Given the description of an element on the screen output the (x, y) to click on. 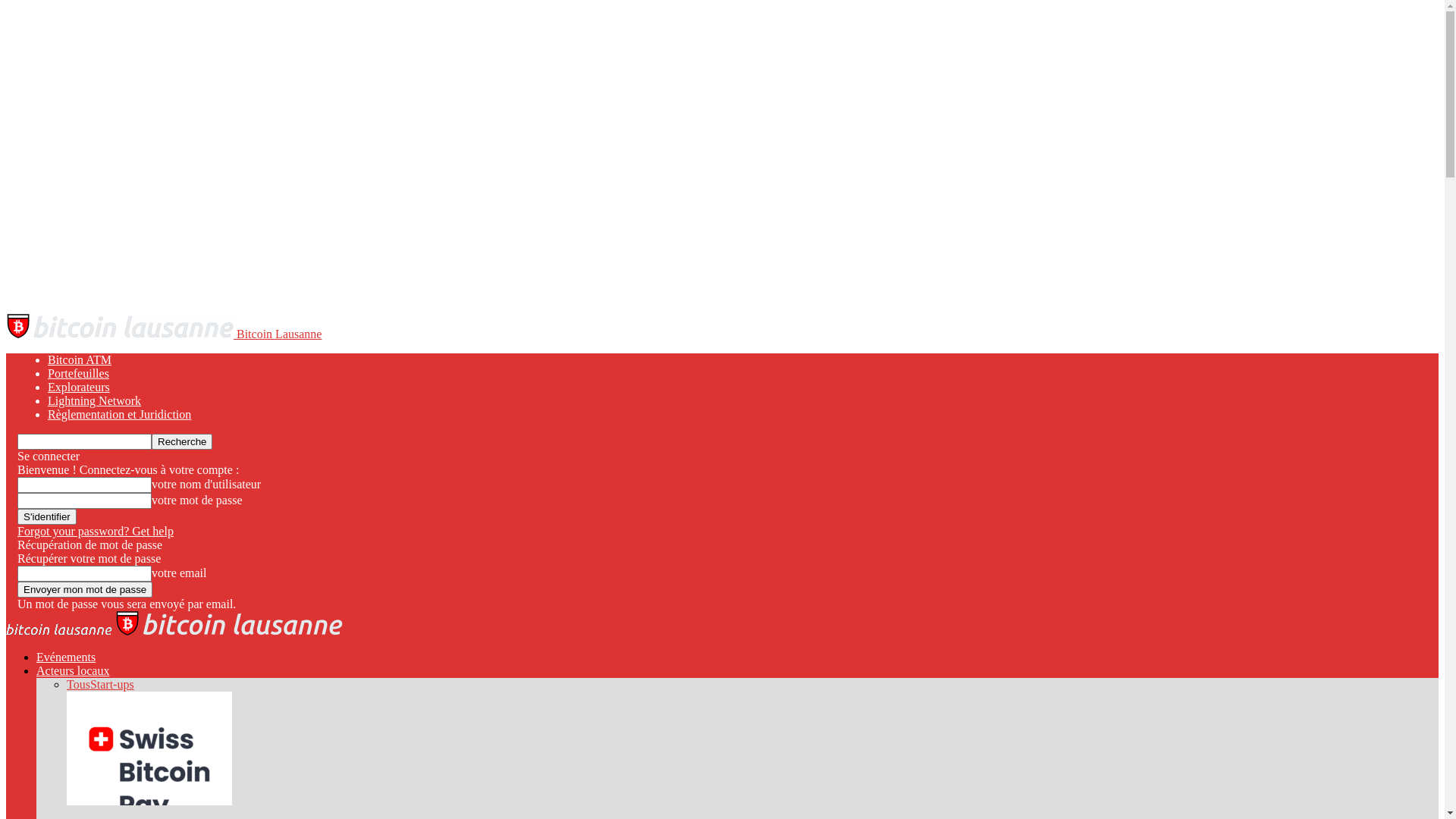
Portefeuilles Element type: text (78, 373)
Swiss Bitcoin Pay Element type: hover (149, 800)
Forgot your password? Get help Element type: text (95, 530)
Bitcoin Lausanne Element type: text (163, 333)
Acteurs locaux Element type: text (72, 670)
Swiss Bitcoin Pay Element type: hover (149, 748)
Bitcoin ATM Element type: text (79, 359)
Recherche Element type: text (181, 441)
Tous Element type: text (78, 683)
Explorateurs Element type: text (78, 386)
Start-ups Element type: text (112, 683)
Lightning Network Element type: text (94, 400)
